Given the description of an element on the screen output the (x, y) to click on. 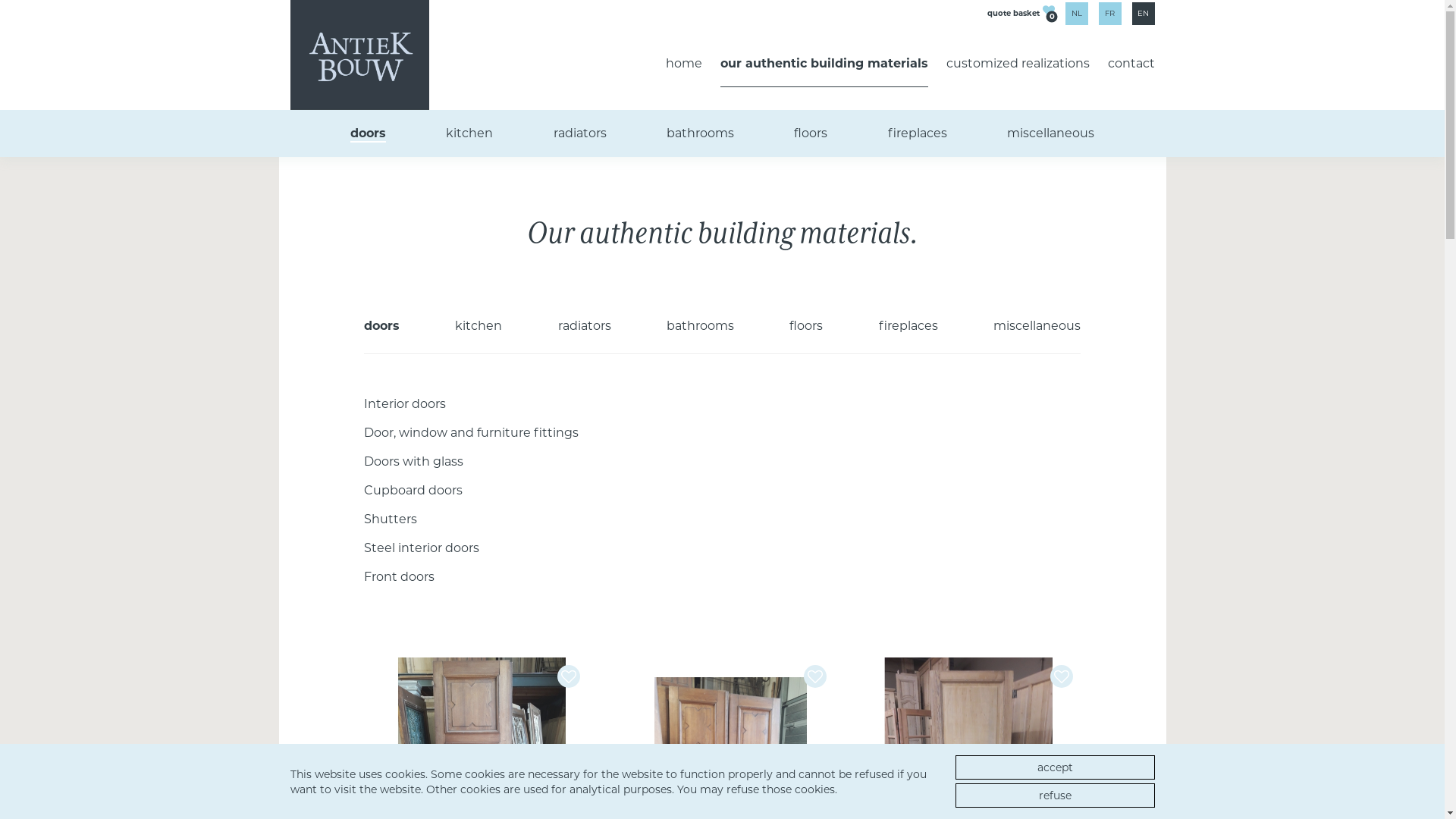
contact Element type: text (1130, 63)
refuse Element type: text (1054, 795)
0 Element type: text (1047, 11)
bathrooms Element type: text (700, 325)
doors Element type: text (367, 132)
accept Element type: text (1054, 767)
home Element type: text (683, 63)
radiators Element type: text (579, 132)
Steel interior doors Element type: text (421, 547)
our authentic building materials Element type: text (824, 63)
EN Element type: text (1142, 13)
  Element type: text (816, 676)
miscellaneous Element type: text (1050, 132)
radiators Element type: text (584, 325)
  Element type: text (570, 676)
kitchen Element type: text (468, 132)
fireplaces Element type: text (917, 132)
fireplaces Element type: text (908, 325)
miscellaneous Element type: text (1036, 325)
NL Element type: text (1075, 13)
FR Element type: text (1109, 13)
customized realizations Element type: text (1017, 63)
floors Element type: text (810, 132)
floors Element type: text (805, 325)
kitchen Element type: text (478, 325)
bathrooms Element type: text (700, 132)
doors Element type: text (381, 325)
Shutters Element type: text (390, 518)
Front doors Element type: text (399, 576)
quote basket Element type: text (1013, 11)
Cupboard doors Element type: text (413, 490)
Door, window and furniture fittings Element type: text (471, 432)
Interior doors Element type: text (404, 403)
  Element type: text (1063, 676)
Doors with glass Element type: text (413, 461)
